Given the description of an element on the screen output the (x, y) to click on. 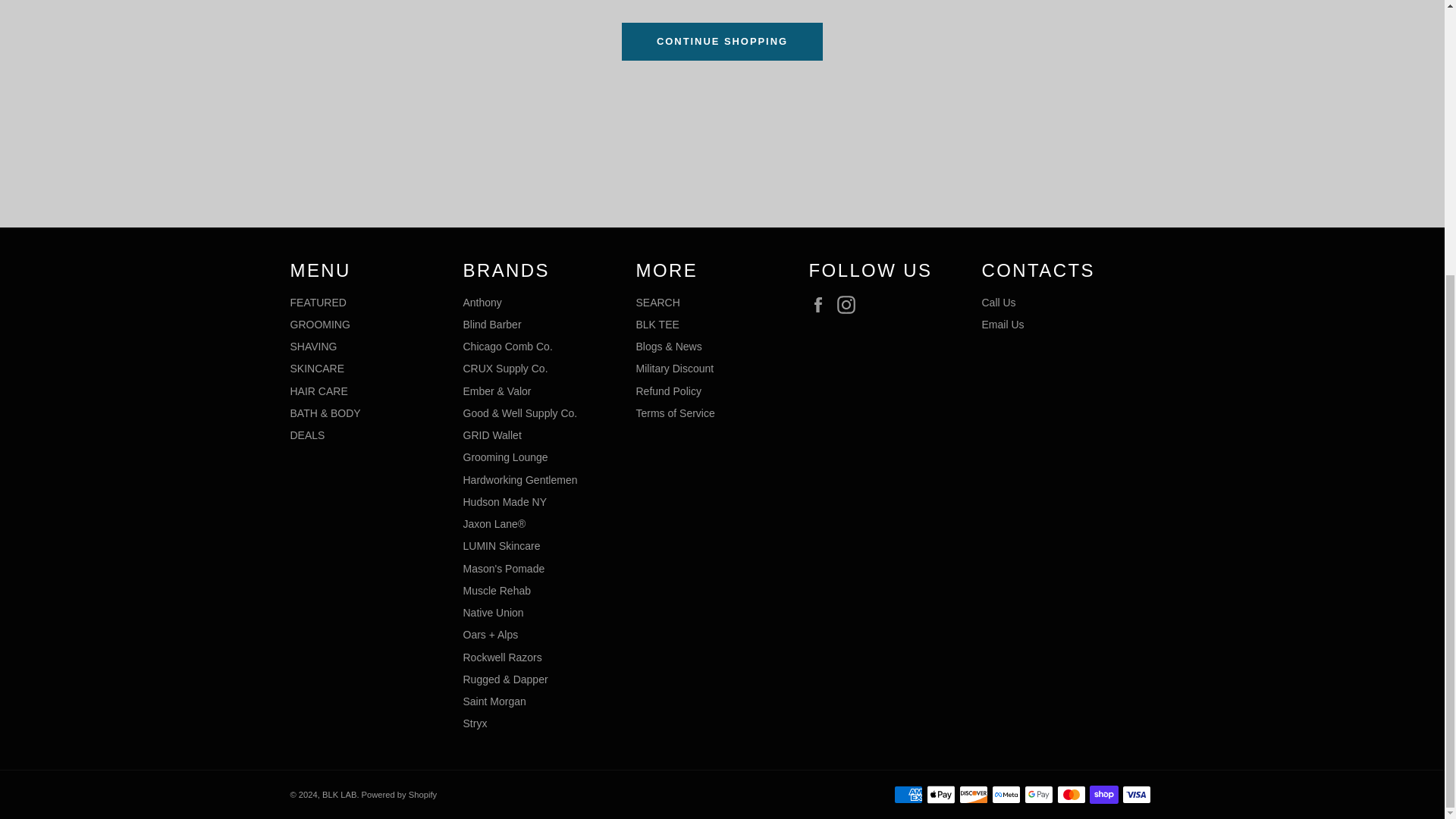
tel:702-333-8952 (997, 302)
BLK LAB on Instagram (850, 304)
BLK LAB on Facebook (821, 304)
